Given the description of an element on the screen output the (x, y) to click on. 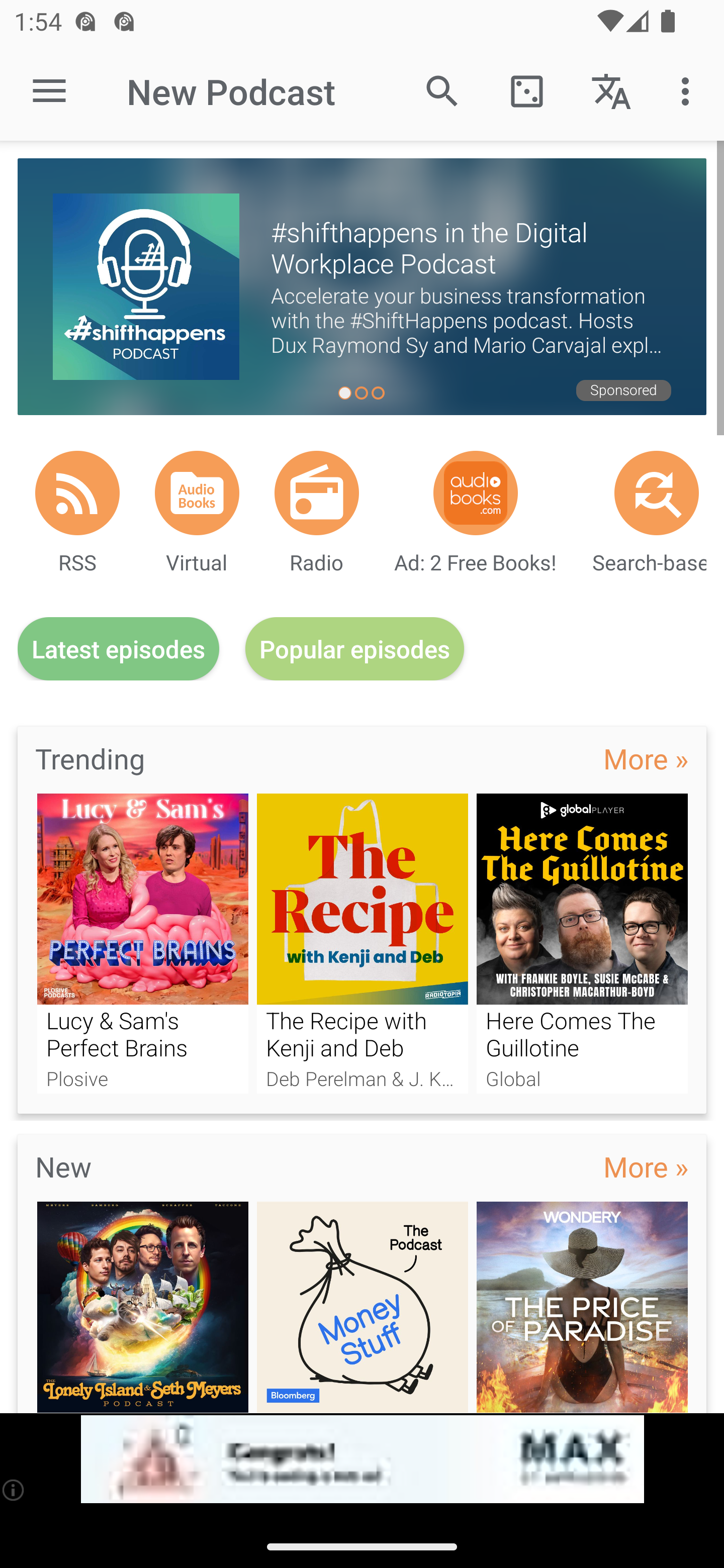
Open navigation sidebar (49, 91)
Search (442, 90)
Random pick (526, 90)
Podcast languages (611, 90)
More options (688, 90)
RSS (77, 492)
Virtual (196, 492)
Radio (316, 492)
Search-based (656, 492)
Latest episodes (118, 648)
Popular episodes (354, 648)
More » (645, 757)
Lucy & Sam's Perfect Brains Plosive (142, 942)
Here Comes The Guillotine Global (581, 942)
More » (645, 1166)
The Lonely Island and Seth Meyers Podcast (142, 1306)
Money Stuff: The Podcast (362, 1306)
The Price of Paradise (581, 1306)
app-monetization (362, 1459)
(i) (14, 1489)
